Given the description of an element on the screen output the (x, y) to click on. 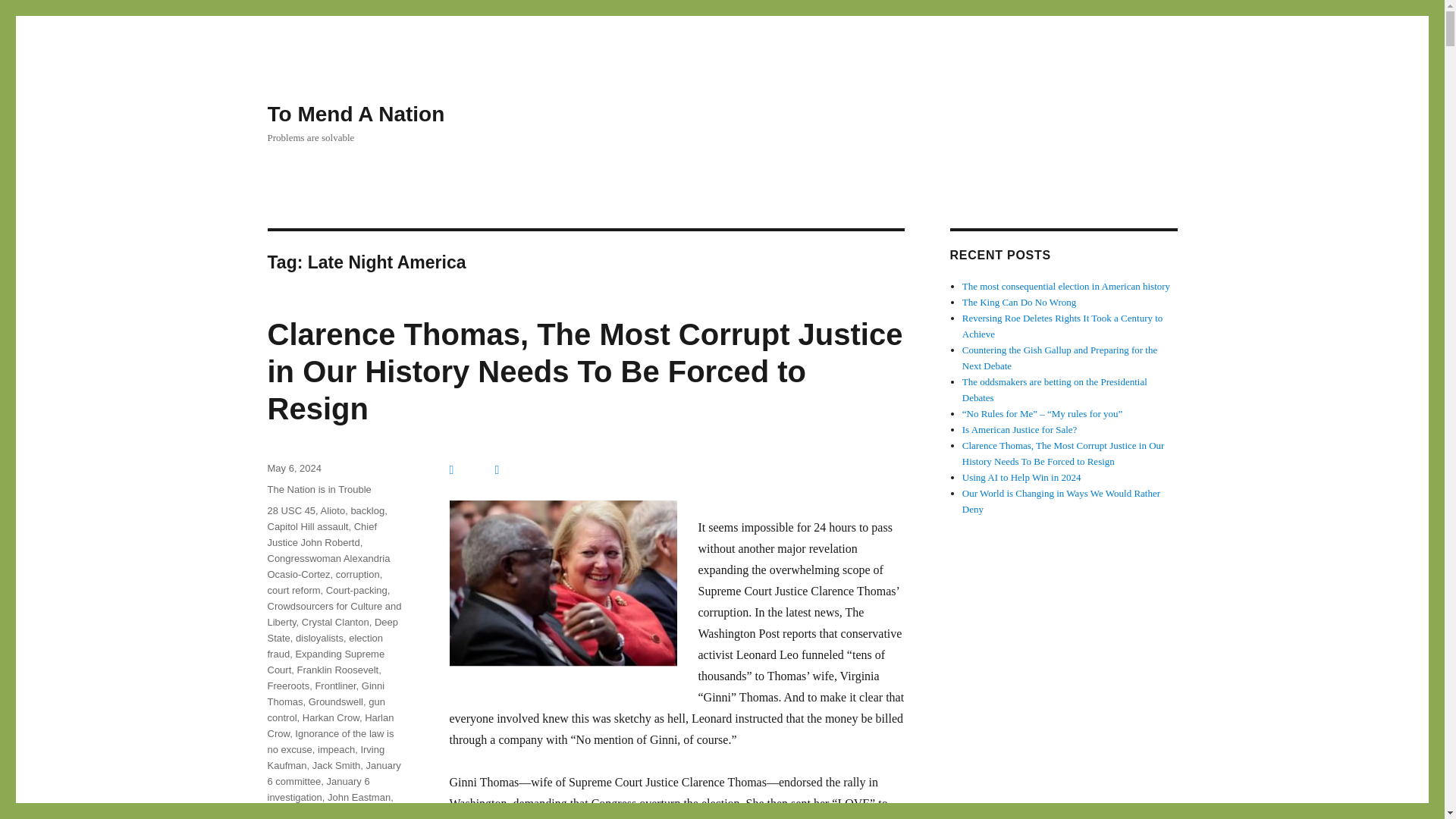
backlog (367, 510)
Alioto (333, 510)
Capitol Hill assault (306, 526)
Chief Justice John Robertd (321, 533)
To Mend A Nation (355, 114)
May 6, 2024 (293, 468)
28 USC 45 (290, 510)
The Nation is in Trouble (318, 489)
